Given the description of an element on the screen output the (x, y) to click on. 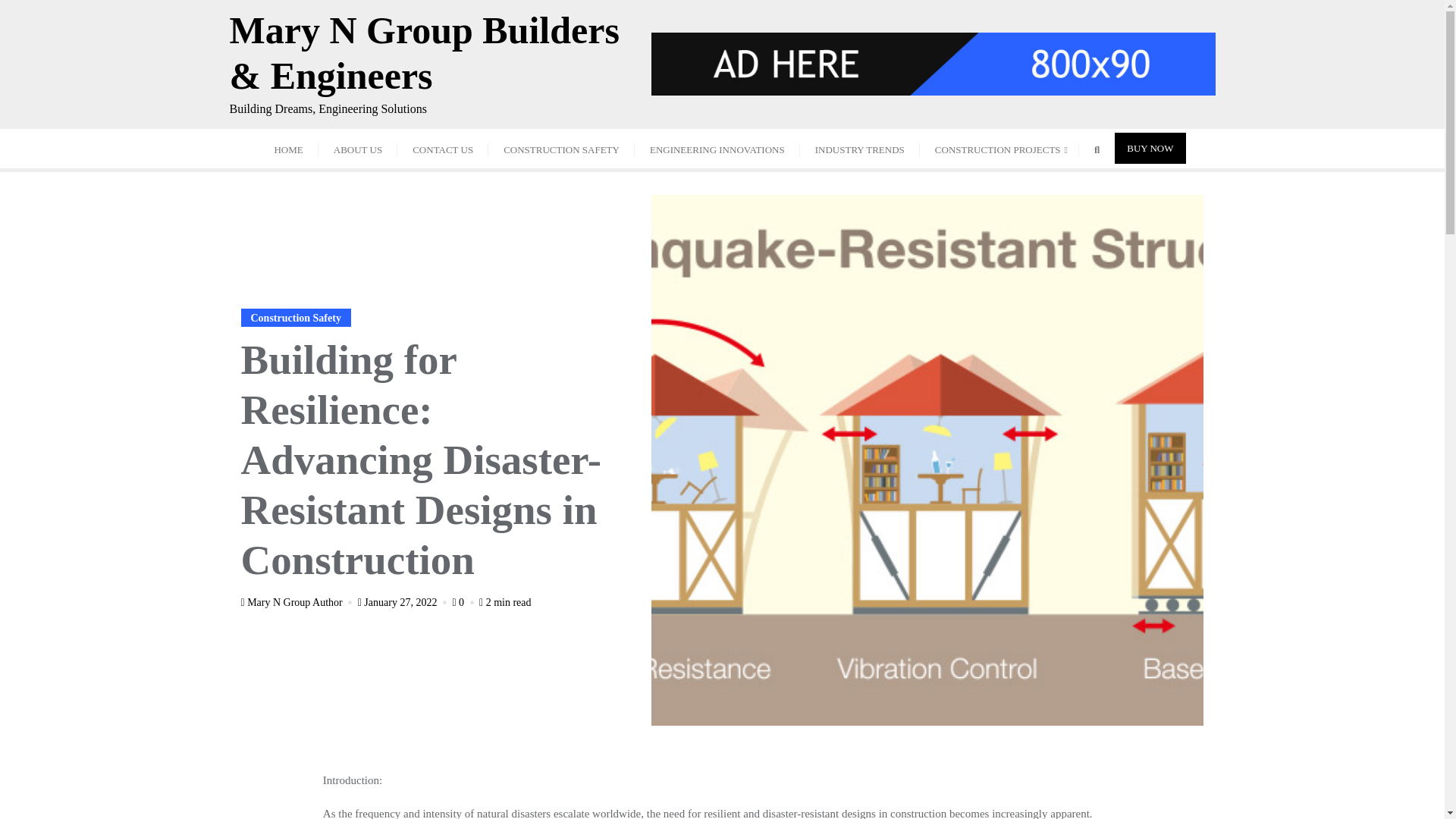
January 27, 2022 (403, 602)
INDUSTRY TRENDS (859, 148)
ENGINEERING INNOVATIONS (716, 148)
0 (463, 602)
Construction Safety (295, 317)
Mary N Group Author (298, 602)
HOME (288, 148)
2 min read (505, 602)
BUY NOW (1150, 147)
CONSTRUCTION PROJECTS (999, 148)
CONTACT US (442, 148)
CONSTRUCTION SAFETY (560, 148)
ABOUT US (357, 148)
